Given the description of an element on the screen output the (x, y) to click on. 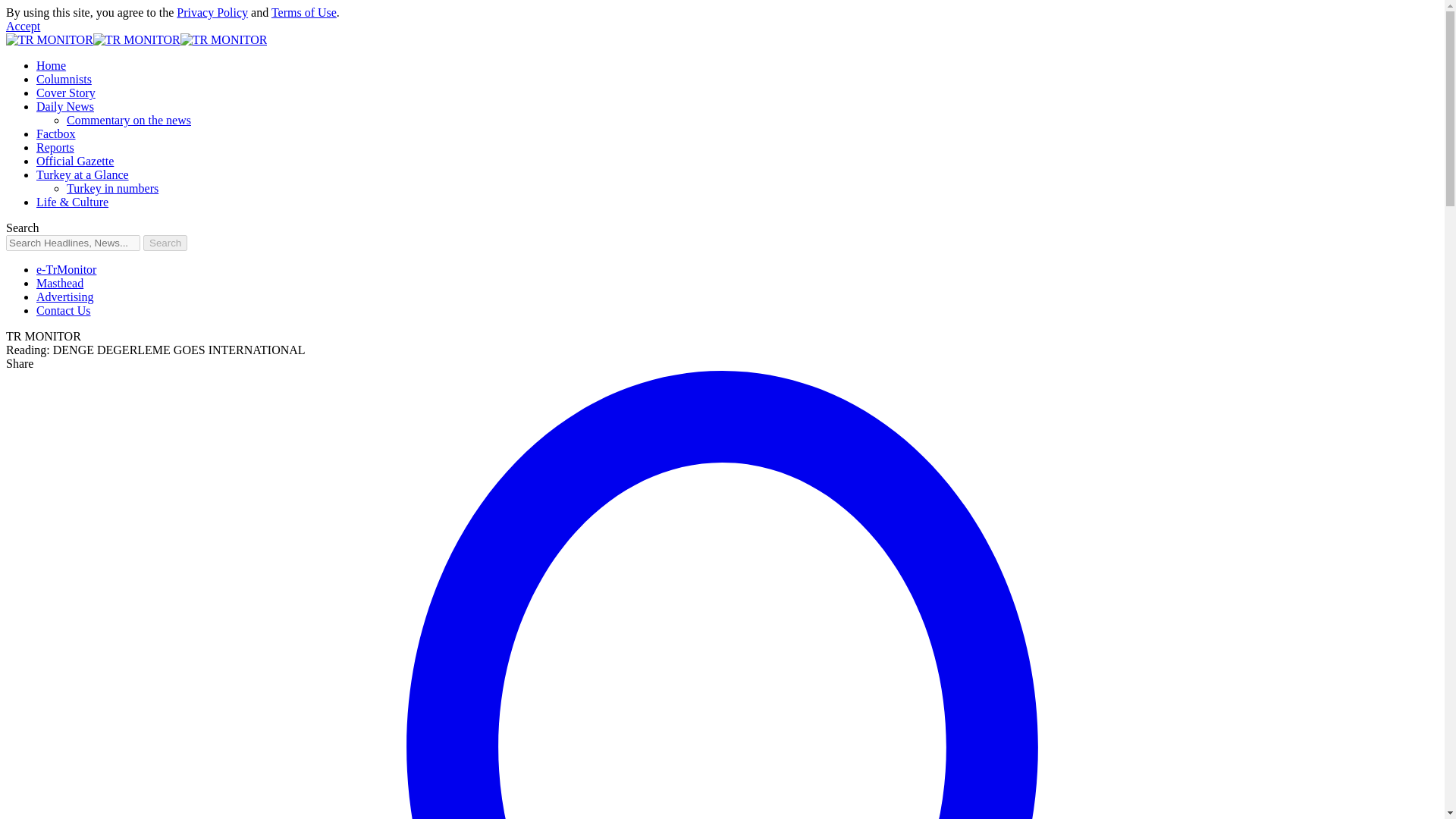
Advertising (65, 296)
Commentary on the news (128, 119)
Reports (55, 146)
Turkey at a Glance (82, 174)
Accept (22, 25)
Turkey in numbers (112, 187)
Search (164, 242)
Factbox (55, 133)
Columnists (63, 78)
Terms of Use (303, 11)
